Given the description of an element on the screen output the (x, y) to click on. 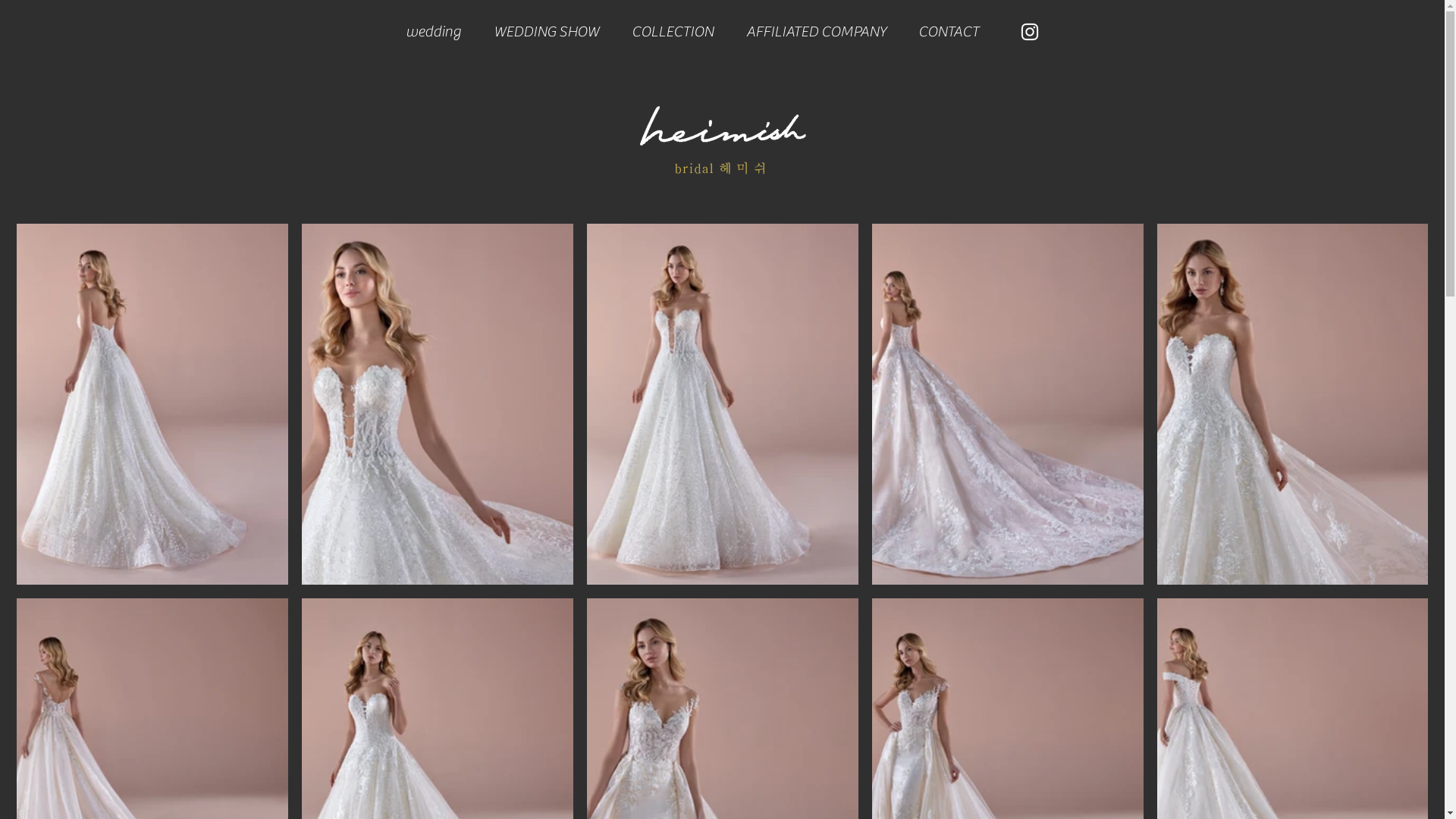
AFFILIATED COMPANY Element type: text (815, 31)
COLLECTION Element type: text (672, 31)
WEDDING SHOW Element type: text (546, 31)
wedding Element type: text (433, 31)
CONTACT Element type: text (948, 31)
